Given the description of an element on the screen output the (x, y) to click on. 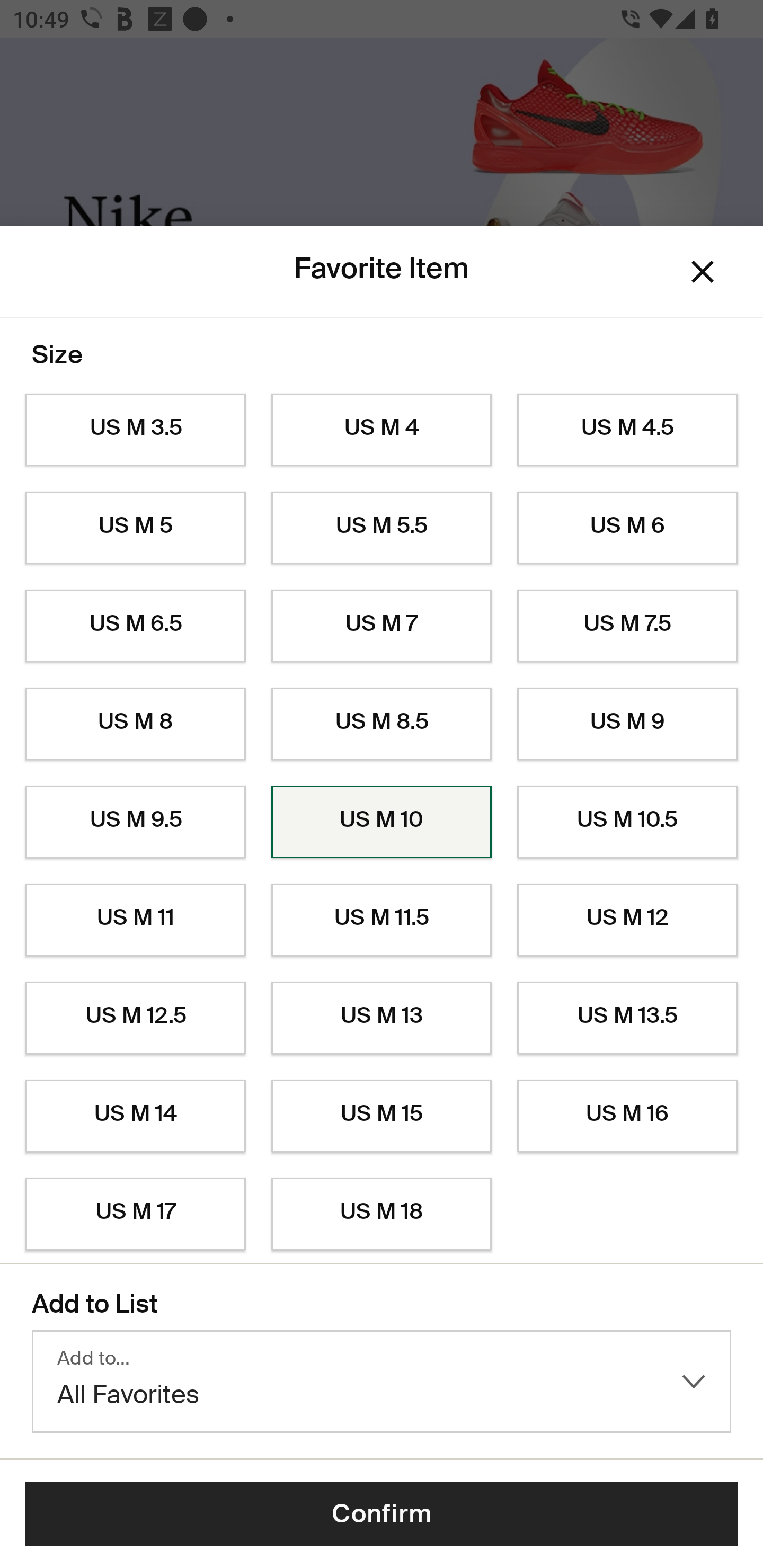
Dismiss (702, 271)
US M 3.5 (135, 430)
US M 4 (381, 430)
US M 4.5 (627, 430)
US M 5 (135, 527)
US M 5.5 (381, 527)
US M 6 (627, 527)
US M 6.5 (135, 626)
US M 7 (381, 626)
US M 7.5 (627, 626)
US M 8 (135, 724)
US M 8.5 (381, 724)
US M 9 (627, 724)
US M 9.5 (135, 822)
US M 10 (381, 822)
US M 10.5 (627, 822)
US M 11 (135, 919)
US M 11.5 (381, 919)
US M 12 (627, 919)
US M 12.5 (135, 1018)
US M 13 (381, 1018)
US M 13.5 (627, 1018)
US M 14 (135, 1116)
US M 15 (381, 1116)
US M 16 (627, 1116)
US M 17 (135, 1214)
US M 18 (381, 1214)
Add to… All Favorites (381, 1381)
Confirm (381, 1513)
